Given the description of an element on the screen output the (x, y) to click on. 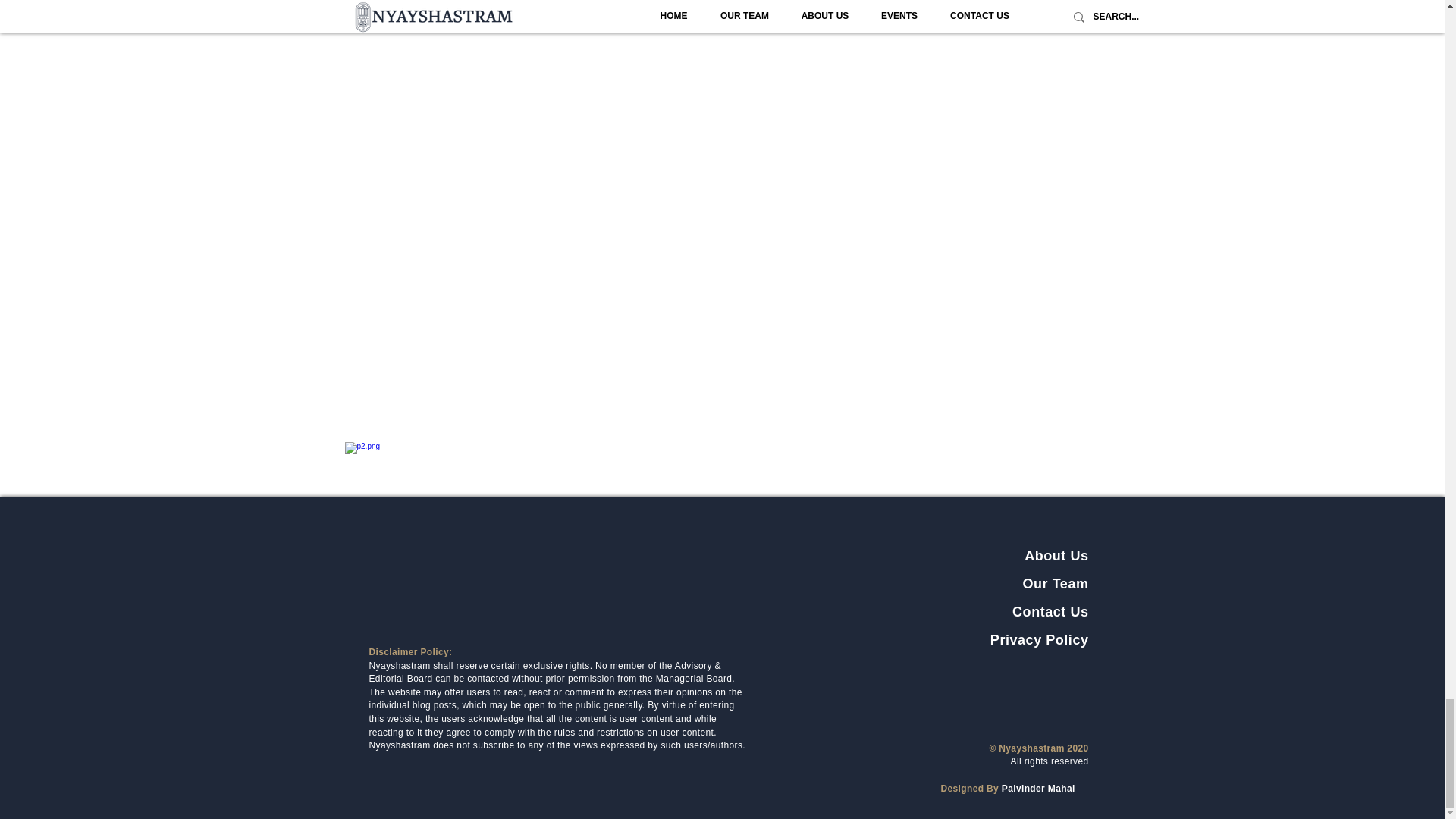
About Us (1056, 556)
